Given the description of an element on the screen output the (x, y) to click on. 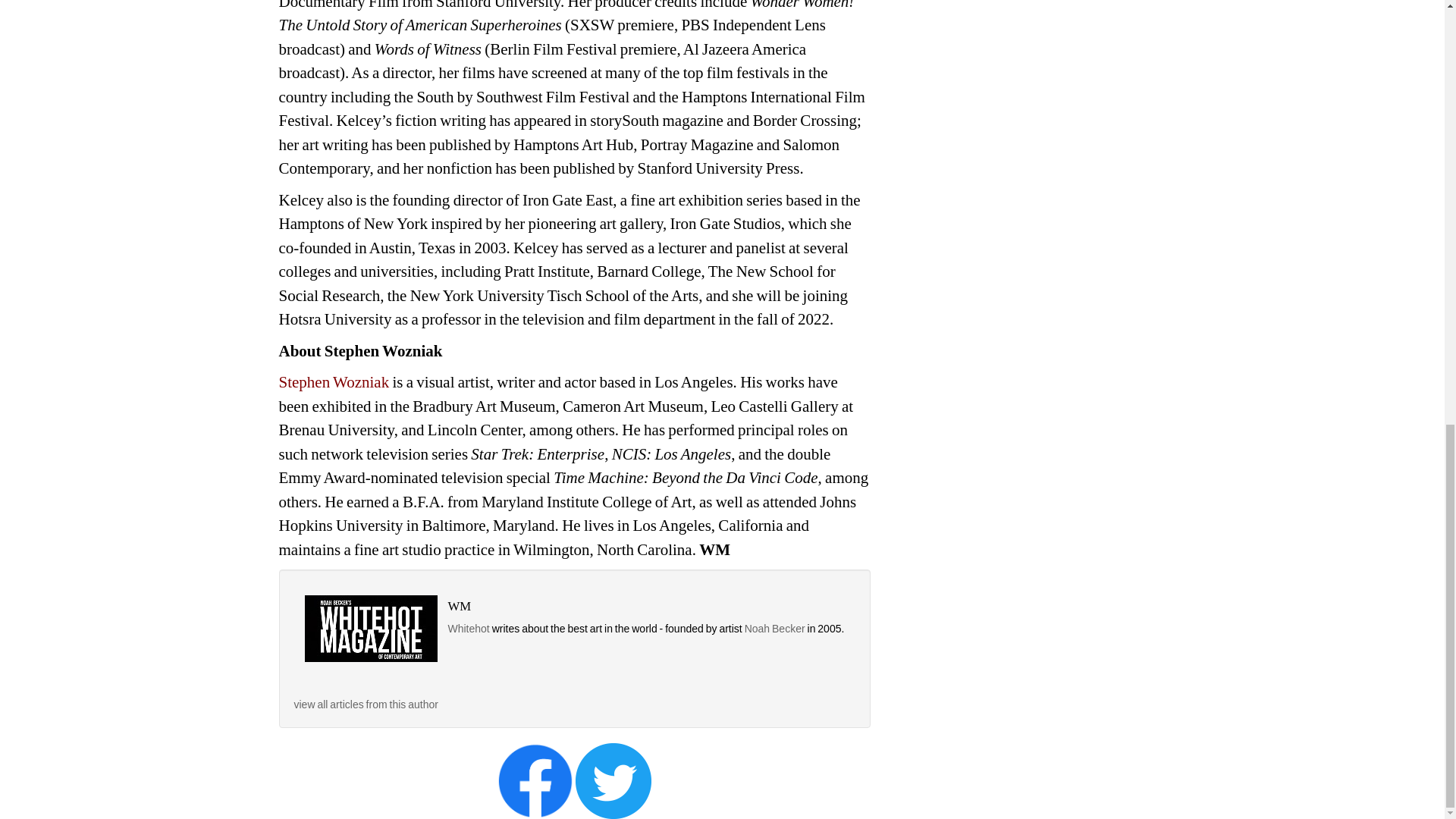
view all articles from this author (366, 704)
Facebook (535, 779)
Stephen Wozniak (334, 382)
Noah Becker (776, 628)
Whitehot (467, 628)
